Given the description of an element on the screen output the (x, y) to click on. 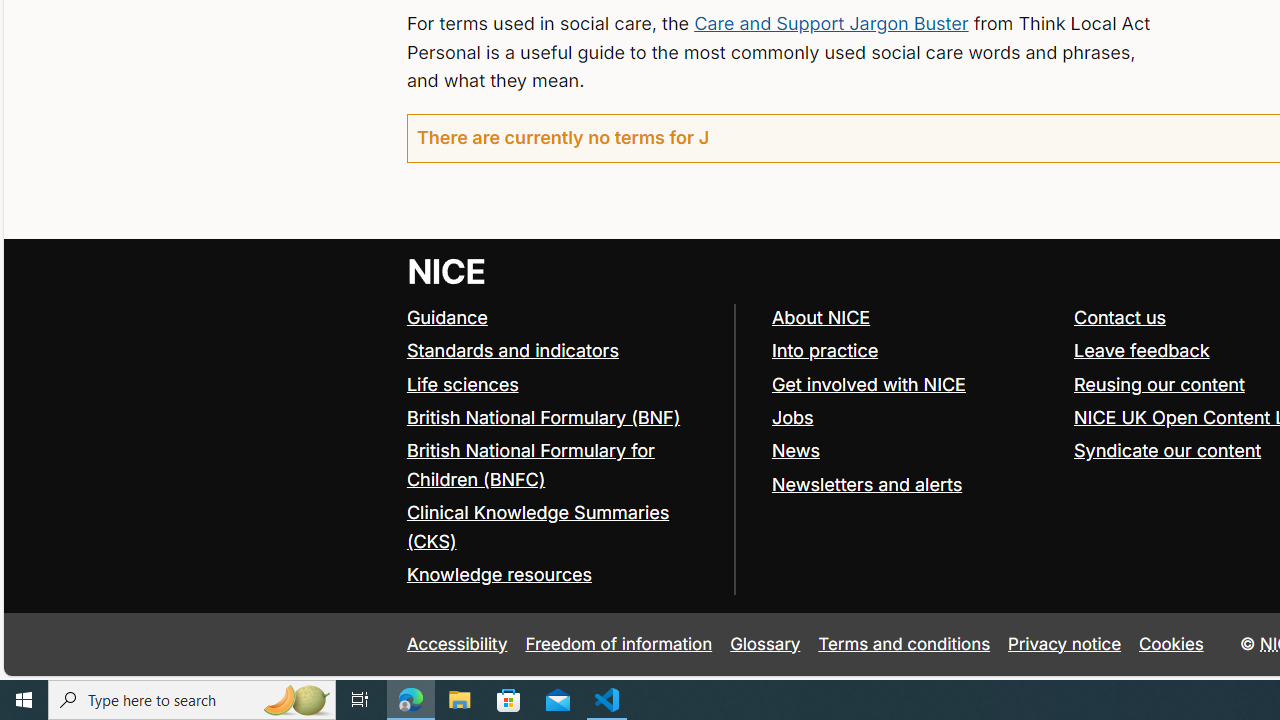
Newsletters and alerts (866, 484)
Leave feedback (1141, 350)
About NICE (913, 317)
Guidance (446, 317)
Newsletters and alerts (913, 484)
Freedom of information (618, 644)
Terms and conditions (903, 644)
Cookies (1171, 644)
Life sciences (461, 383)
Get involved with NICE (868, 383)
Syndicate our content (1167, 450)
